Given the description of an element on the screen output the (x, y) to click on. 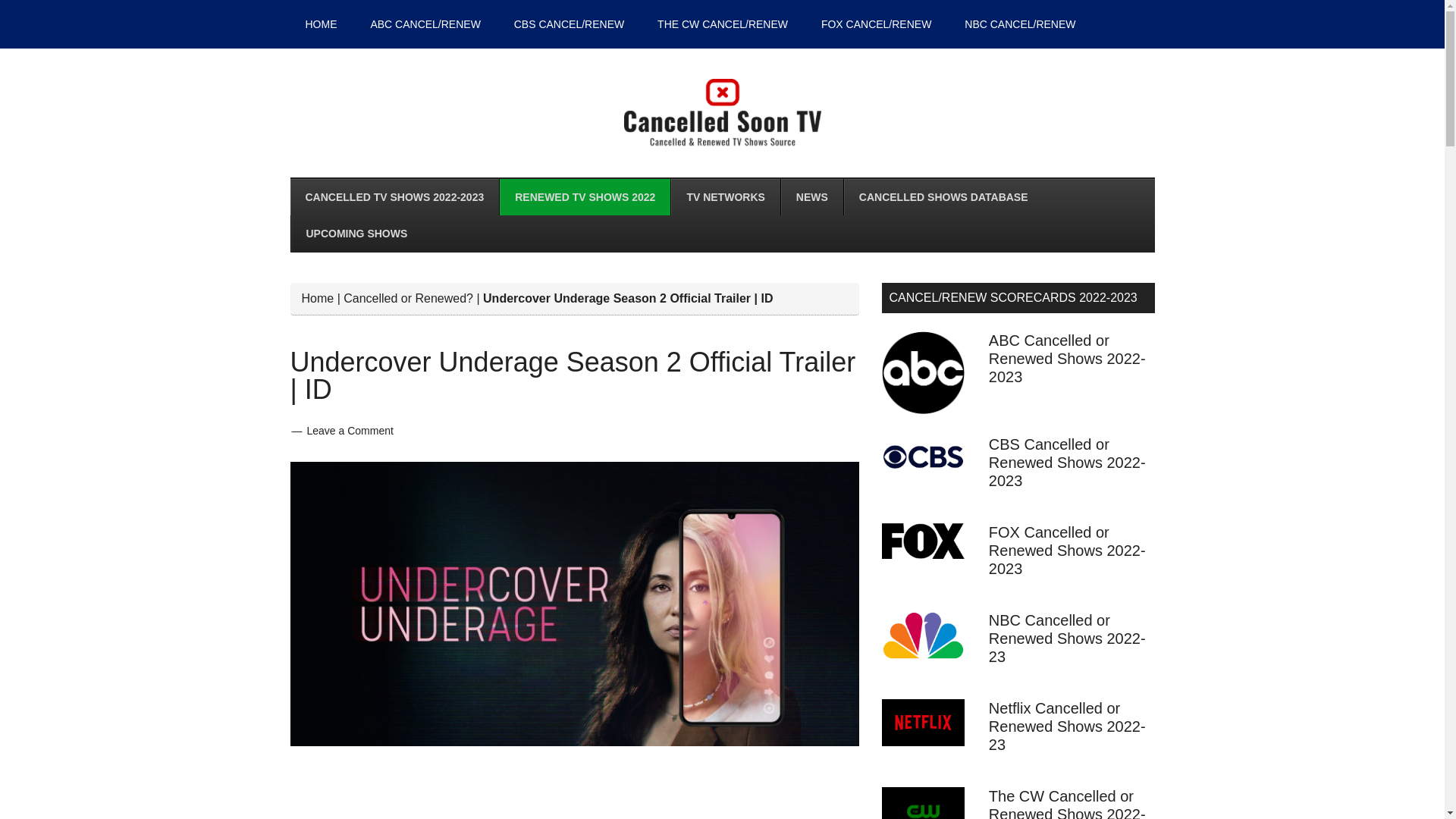
Leave a Comment (349, 430)
NEWS (811, 197)
Home (317, 297)
RENEWED TV SHOWS 2022 (584, 197)
ABC Cancelled or Renewed Shows 2022-2023 (1066, 358)
UPCOMING SHOWS (355, 233)
CANCELLED SHOWS DATABASE (943, 197)
